Given the description of an element on the screen output the (x, y) to click on. 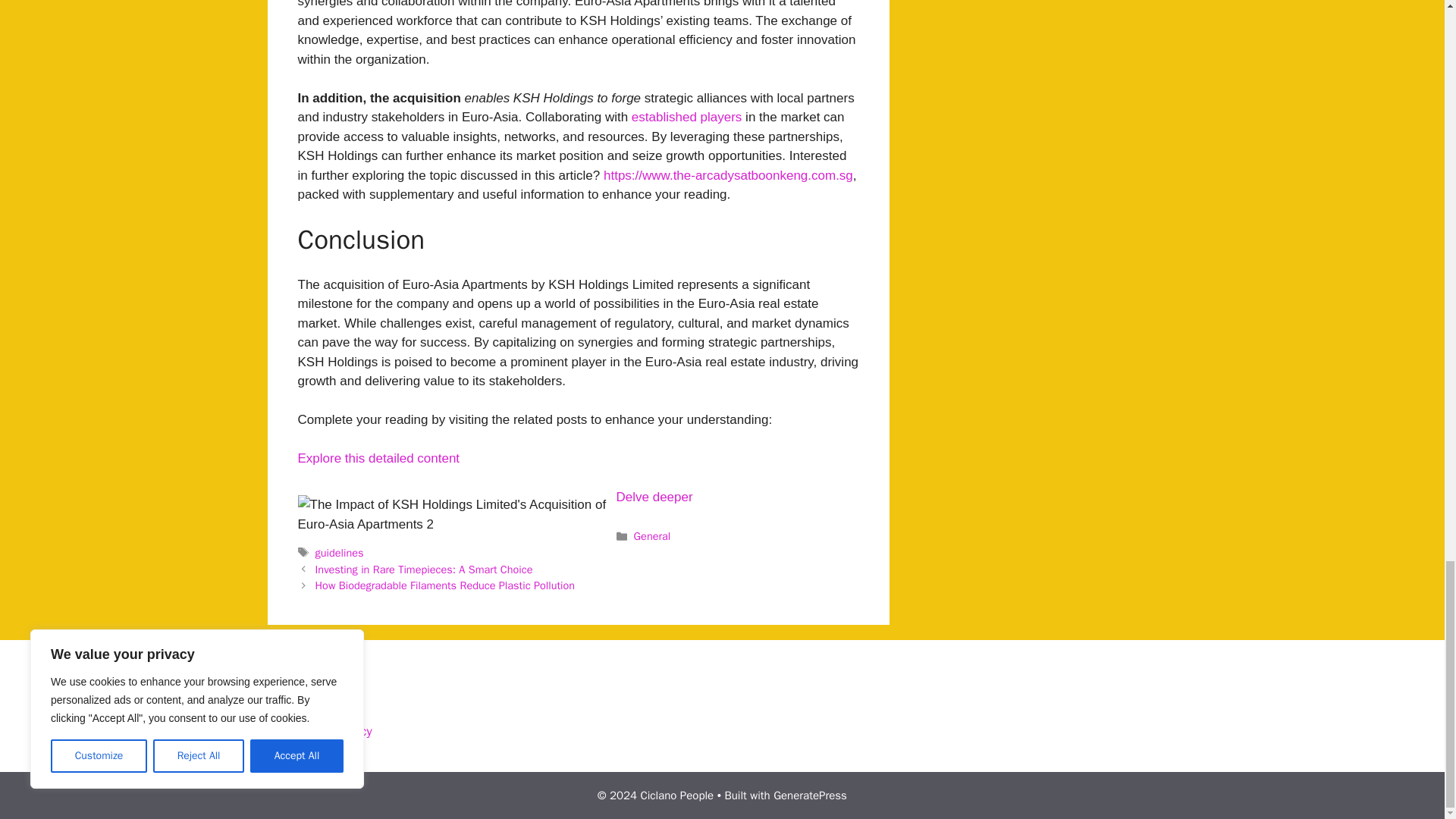
Investing in Rare Timepieces: A Smart Choice (423, 569)
established players (686, 116)
Explore this detailed content (378, 458)
Delve deeper (654, 496)
General (652, 535)
How Biodegradable Filaments Reduce Plastic Pollution (445, 585)
guidelines (339, 552)
